Given the description of an element on the screen output the (x, y) to click on. 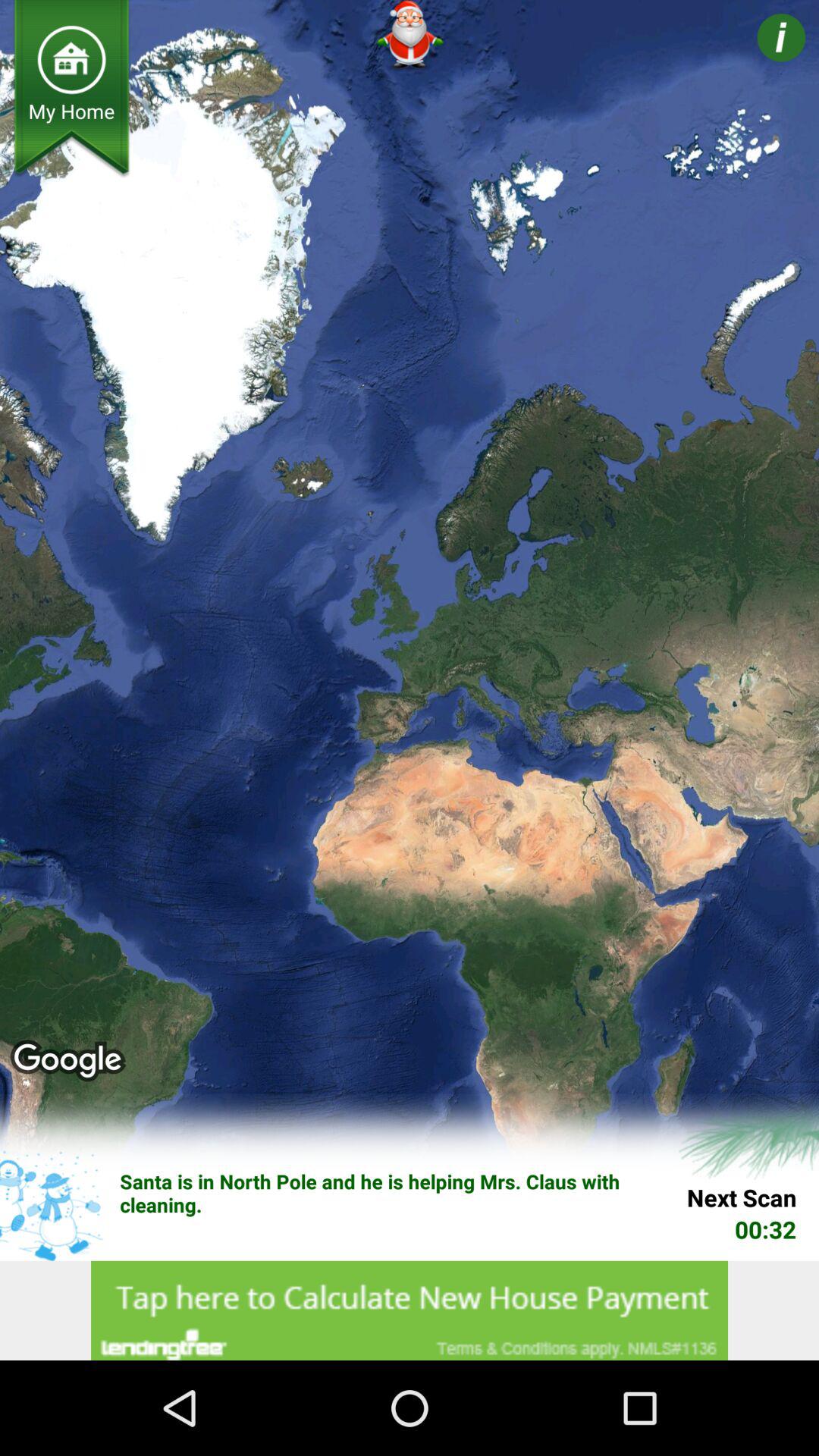
see advertisement (409, 1310)
